Given the description of an element on the screen output the (x, y) to click on. 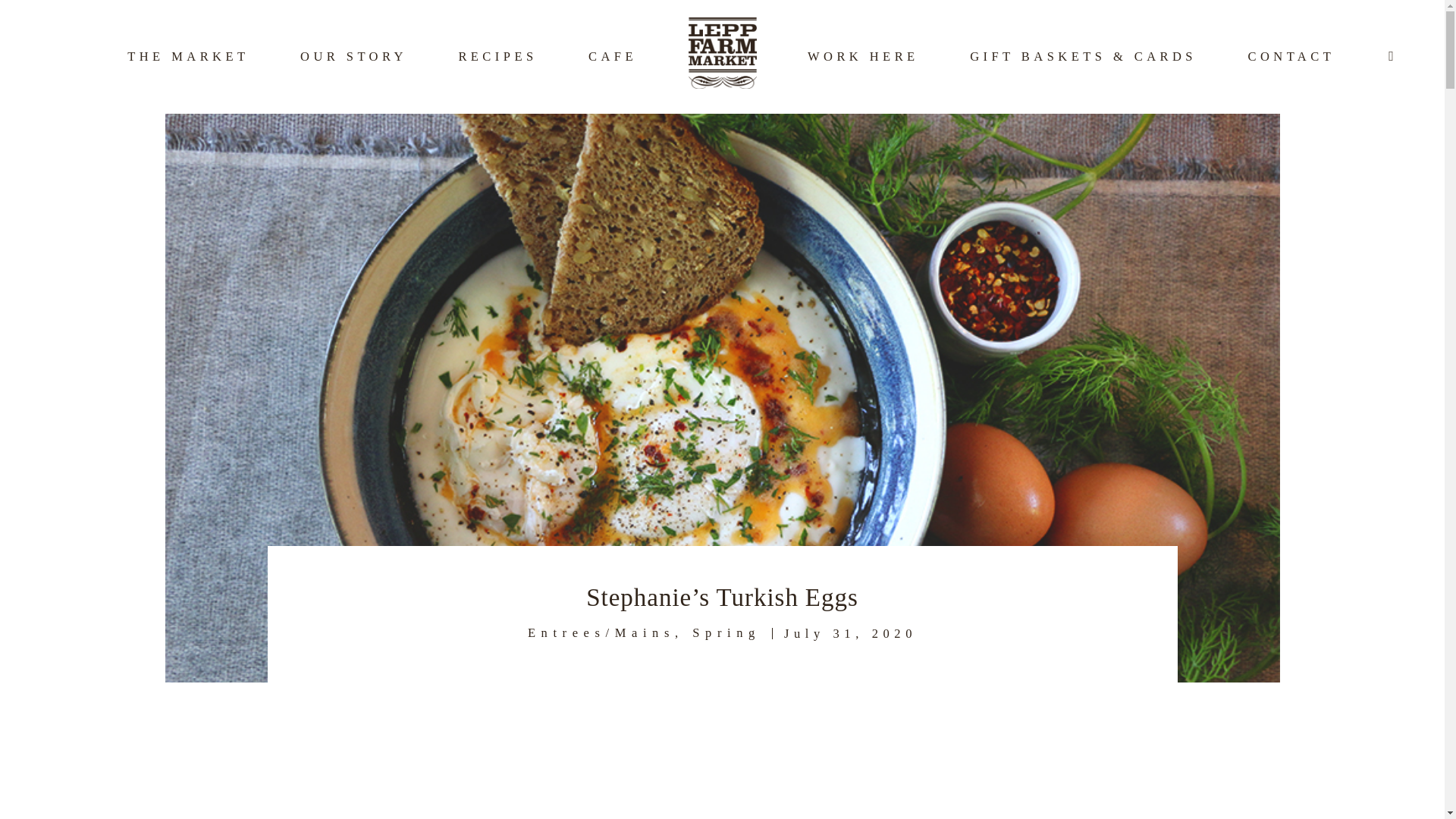
WORK HERE (863, 56)
CONTACT (1291, 56)
Spring (726, 632)
RECIPES (497, 56)
CAFE (612, 56)
THE MARKET (188, 56)
OUR STORY (353, 56)
